Given the description of an element on the screen output the (x, y) to click on. 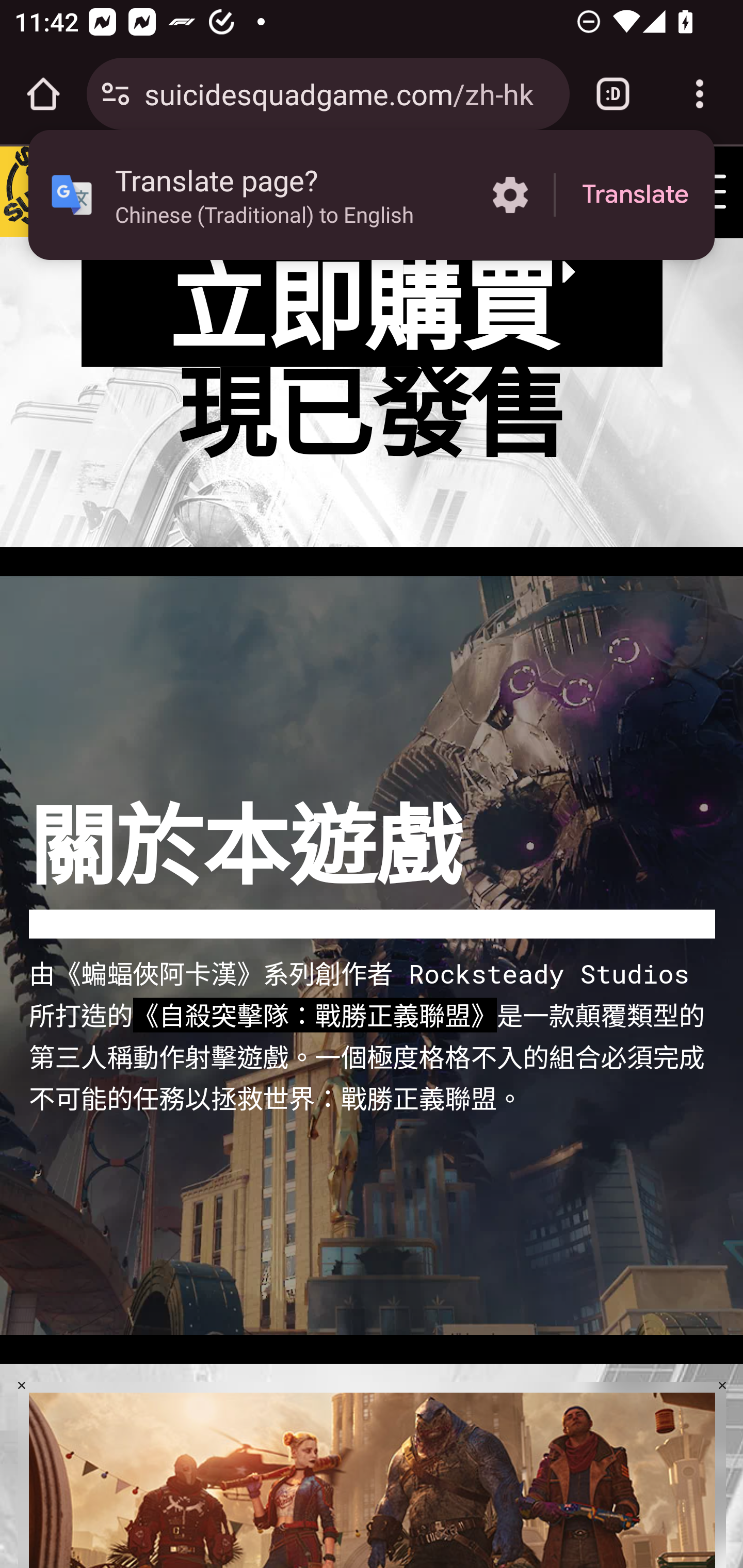
Open the home page (43, 93)
Connection is secure (115, 93)
Switch or close tabs (612, 93)
Customize and control Google Chrome (699, 93)
suicidesquadgame.com/zh-hk (349, 92)
Translate (634, 195)
More options in the Translate page? (509, 195)
